Given the description of an element on the screen output the (x, y) to click on. 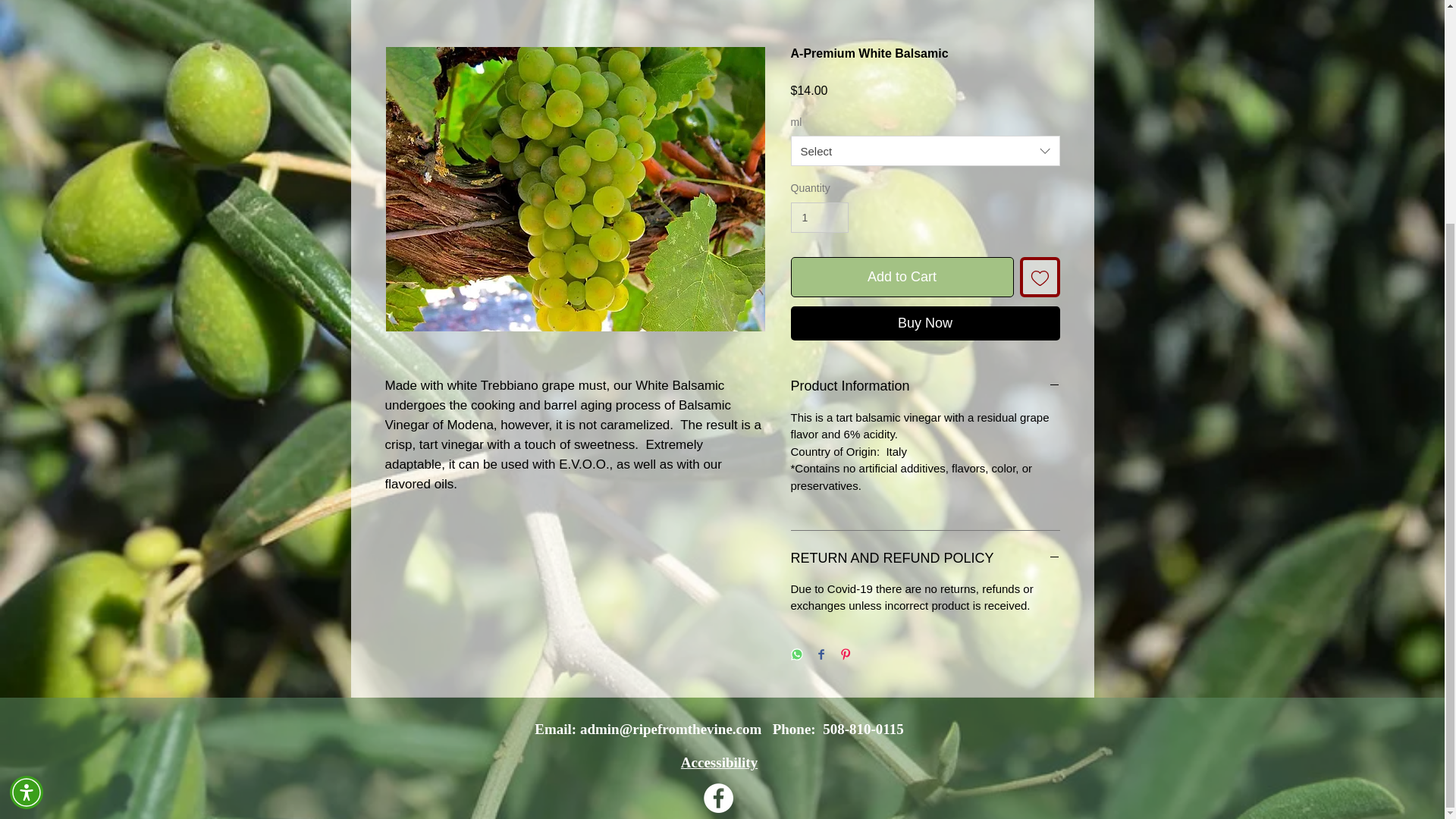
Add to Cart (901, 277)
Select (924, 150)
Buy Now (924, 323)
1 (818, 217)
Accessibility (719, 762)
RETURN AND REFUND POLICY (924, 558)
Product Information (924, 385)
Accessibility Menu (26, 494)
